Given the description of an element on the screen output the (x, y) to click on. 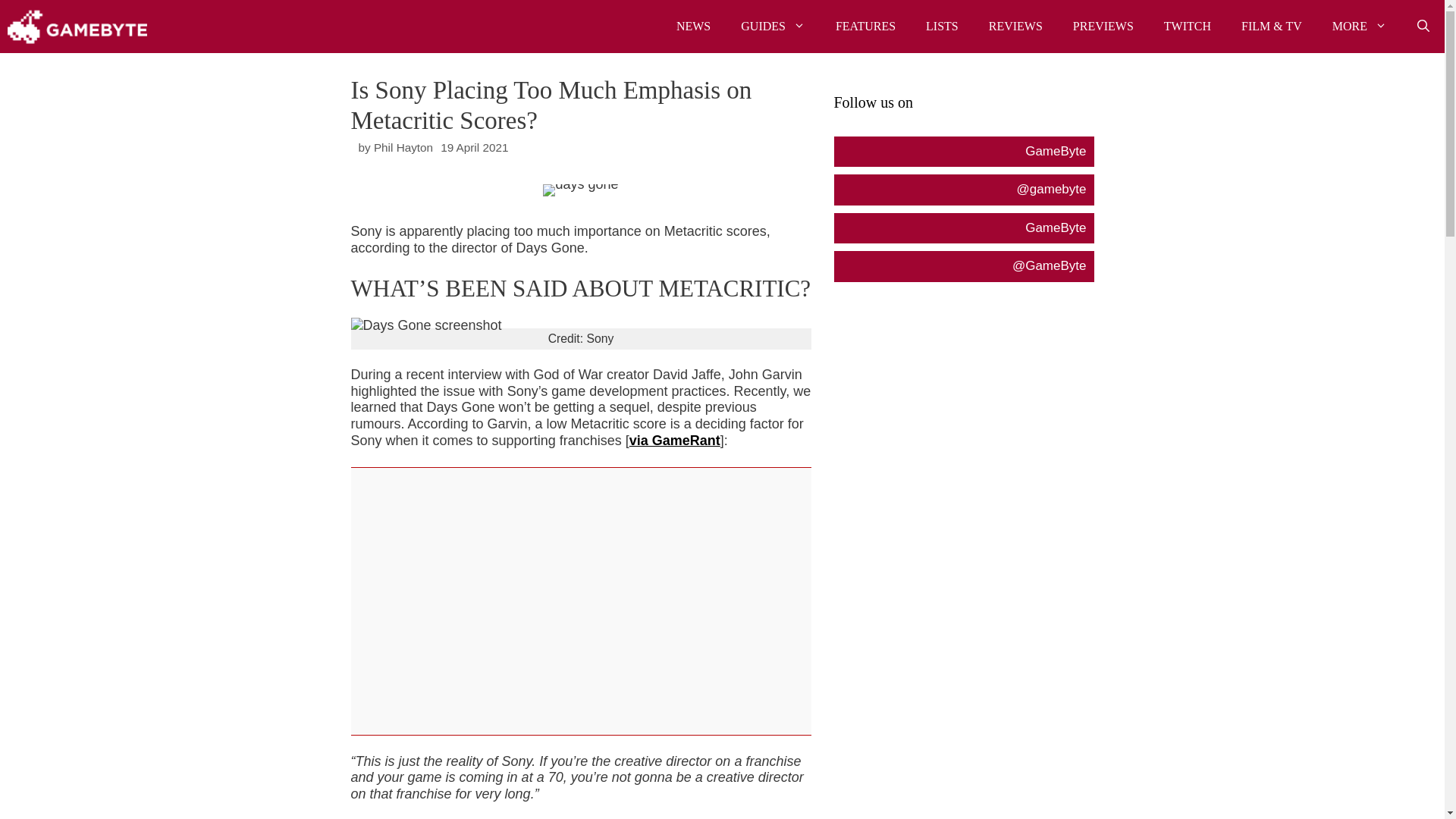
GUIDES (773, 26)
NEWS (693, 26)
Gamebyte Instagram (963, 189)
Gamebyte Twitter (963, 265)
Gamebyte Youtube (963, 227)
Gamebyte Facebook (963, 151)
View all posts by Phil Hayton (403, 146)
GameByte (77, 26)
